Given the description of an element on the screen output the (x, y) to click on. 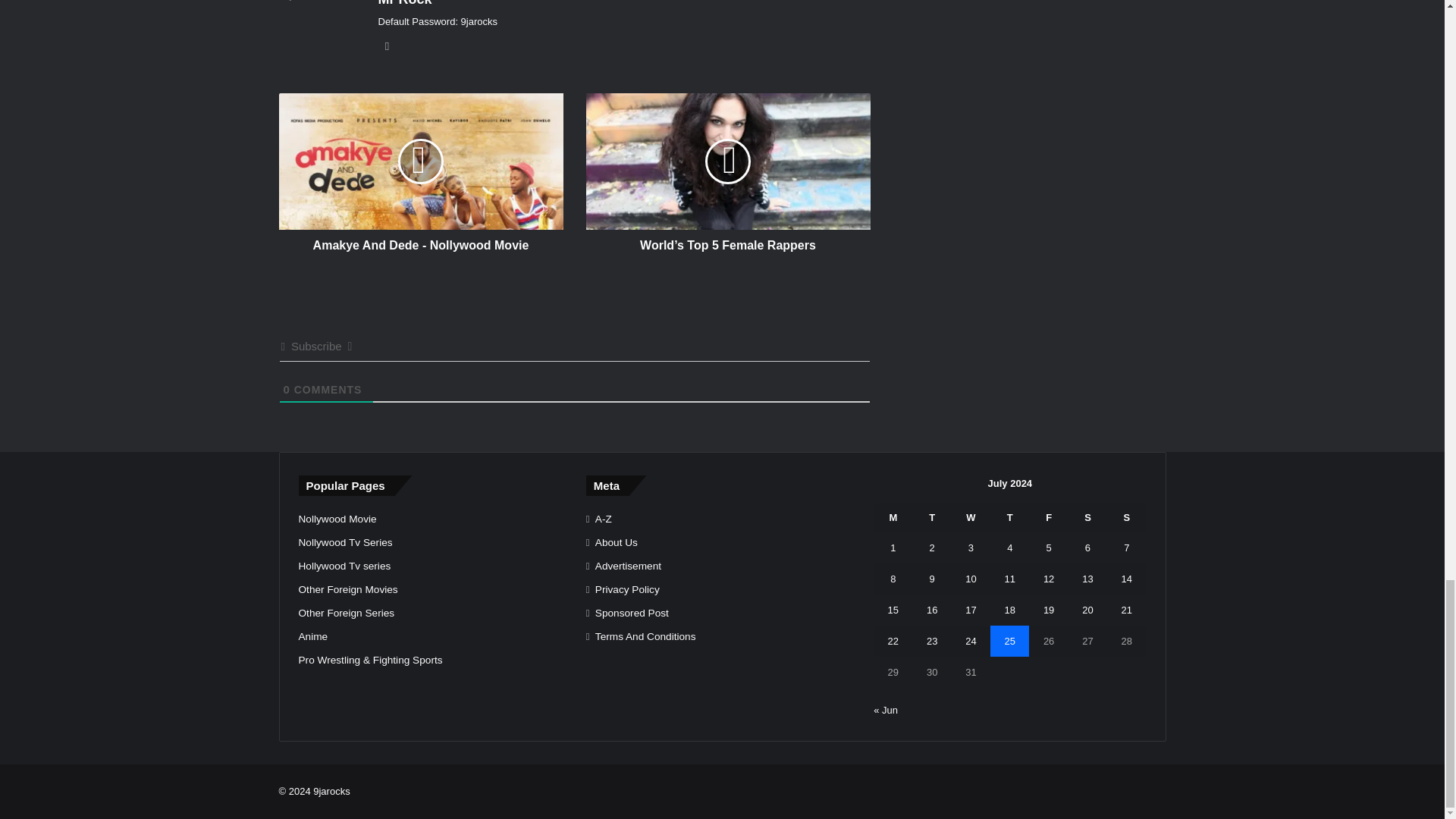
Mr Rock (403, 3)
